Given the description of an element on the screen output the (x, y) to click on. 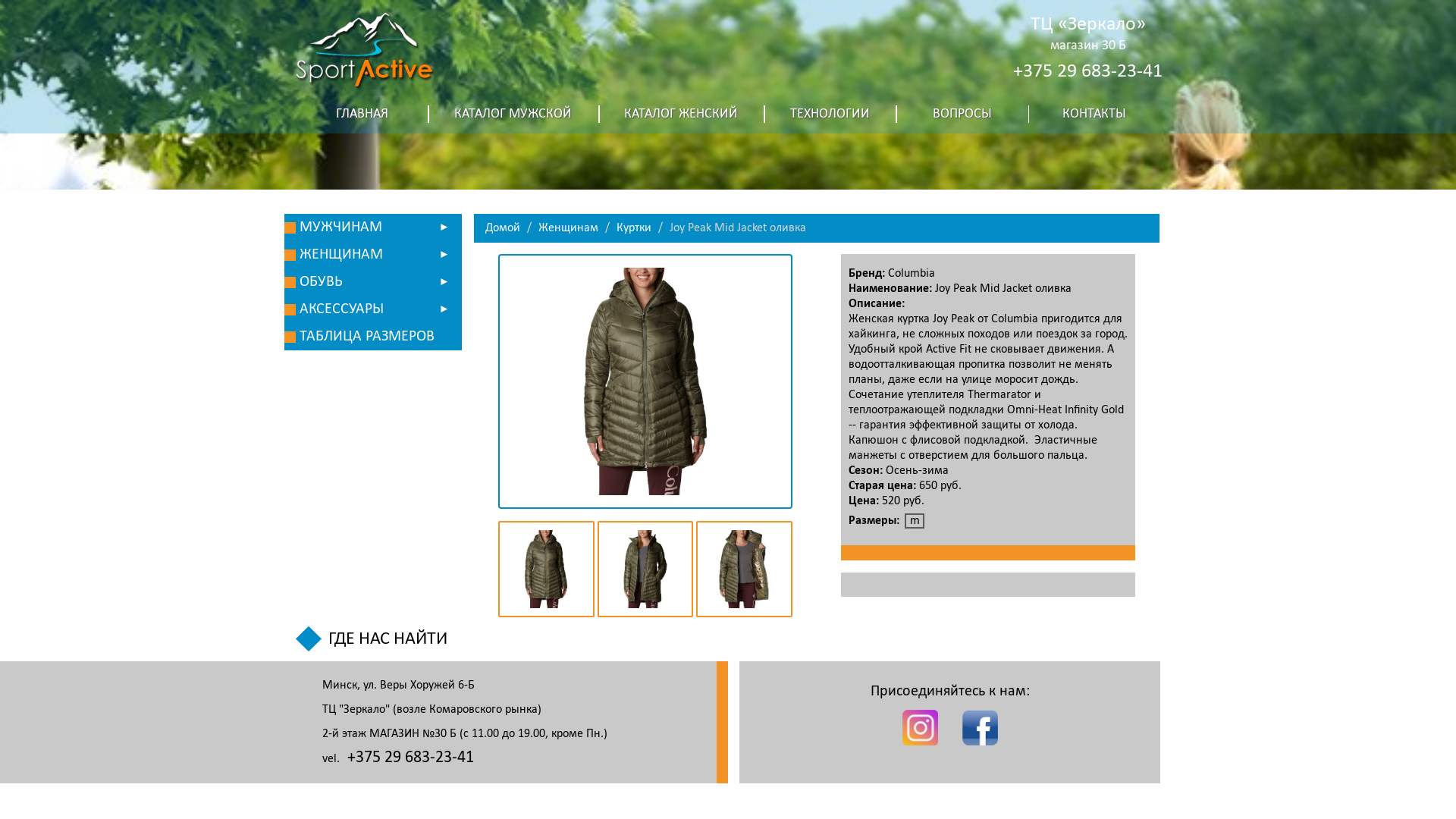
+375 29 683-23-41 Element type: text (1087, 71)
+375 29 683-23-41 Element type: text (410, 758)
